Given the description of an element on the screen output the (x, y) to click on. 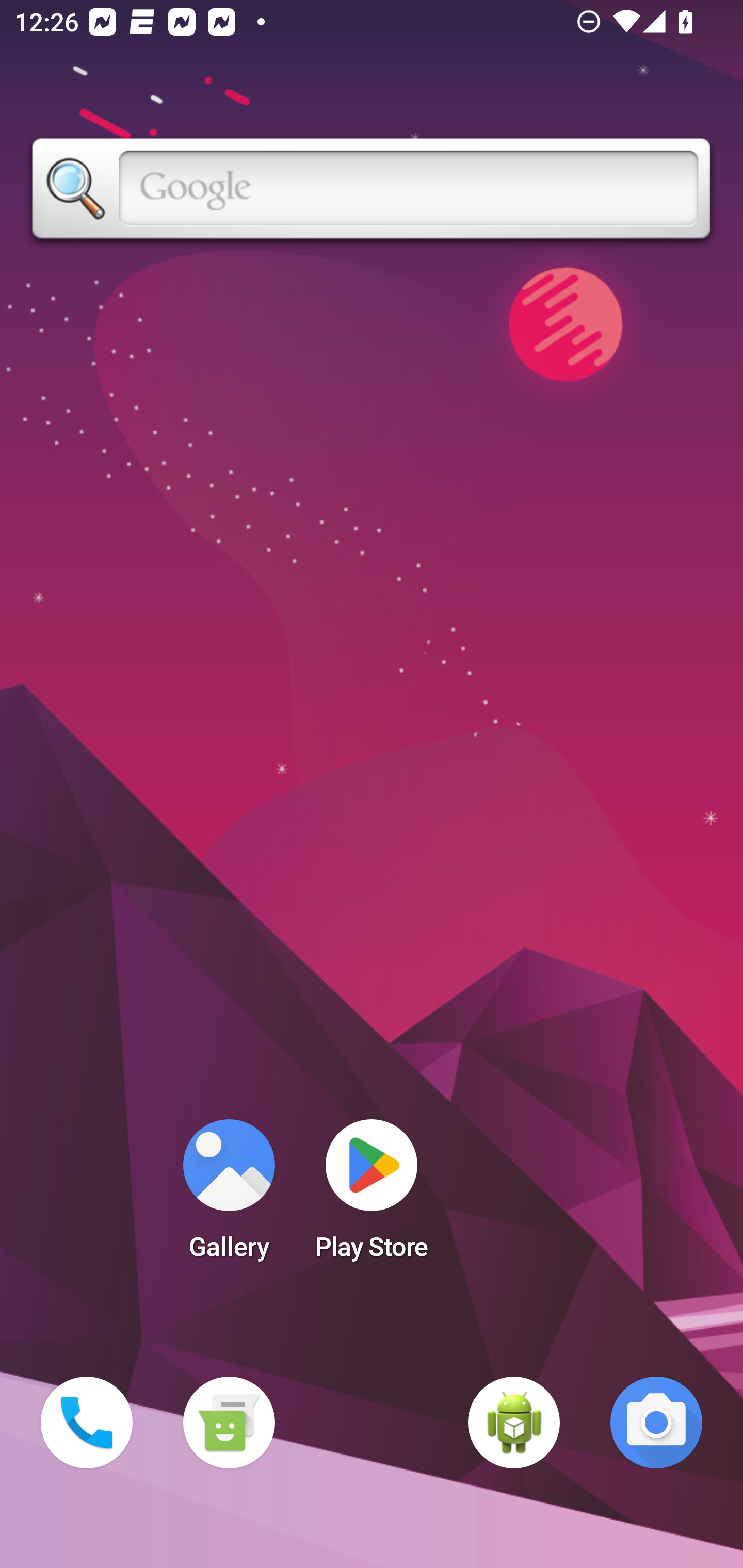
Gallery (228, 1195)
Play Store (371, 1195)
Phone (86, 1422)
Messaging (228, 1422)
WebView Browser Tester (513, 1422)
Camera (656, 1422)
